Given the description of an element on the screen output the (x, y) to click on. 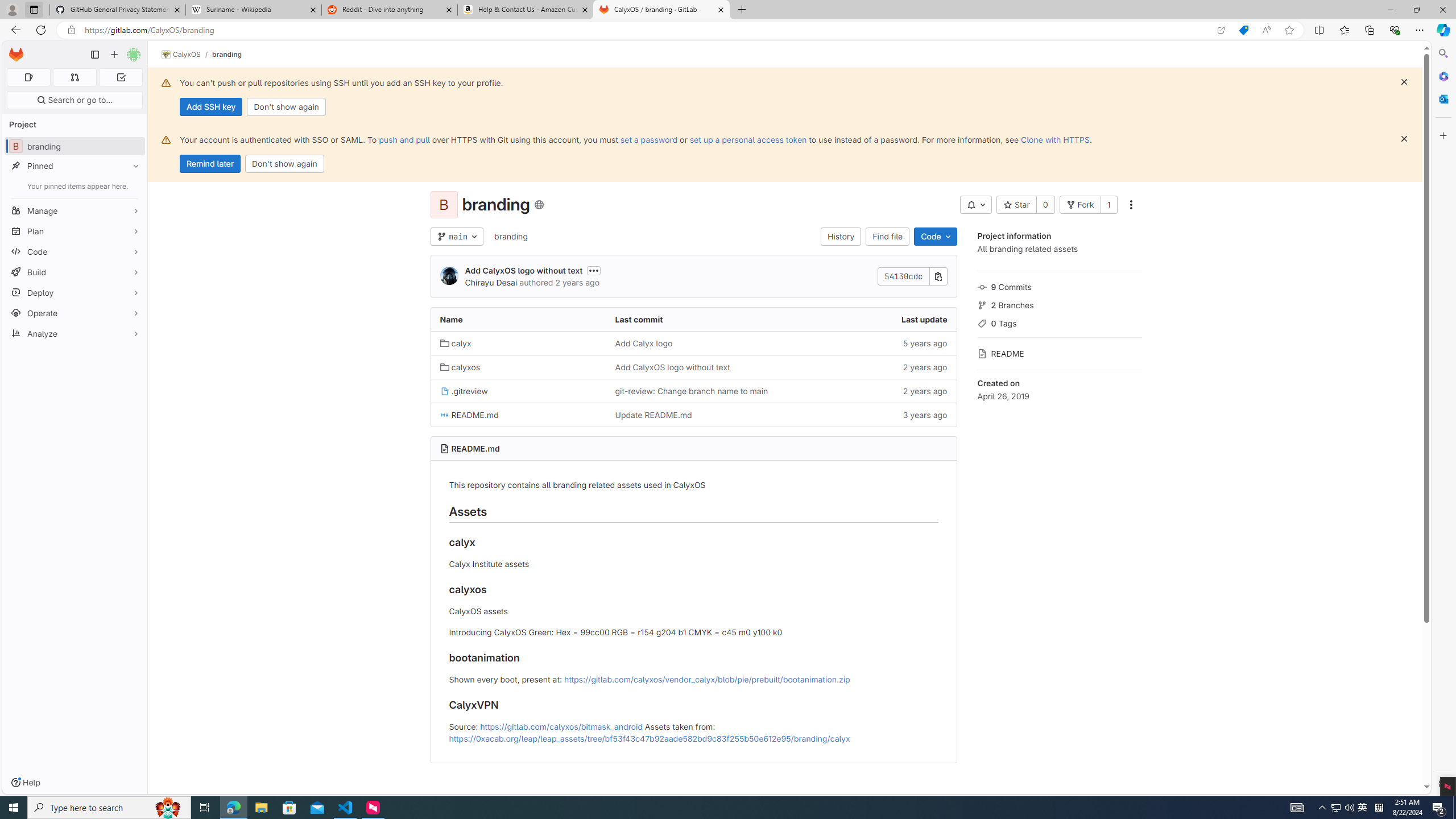
Manage (74, 210)
Find file (888, 236)
AutomationID: __BVID__301__BV_toggle_ (975, 204)
5 years ago (868, 342)
branding (510, 236)
branding (510, 235)
CalyxOS (180, 54)
README.md (475, 447)
